Given the description of an element on the screen output the (x, y) to click on. 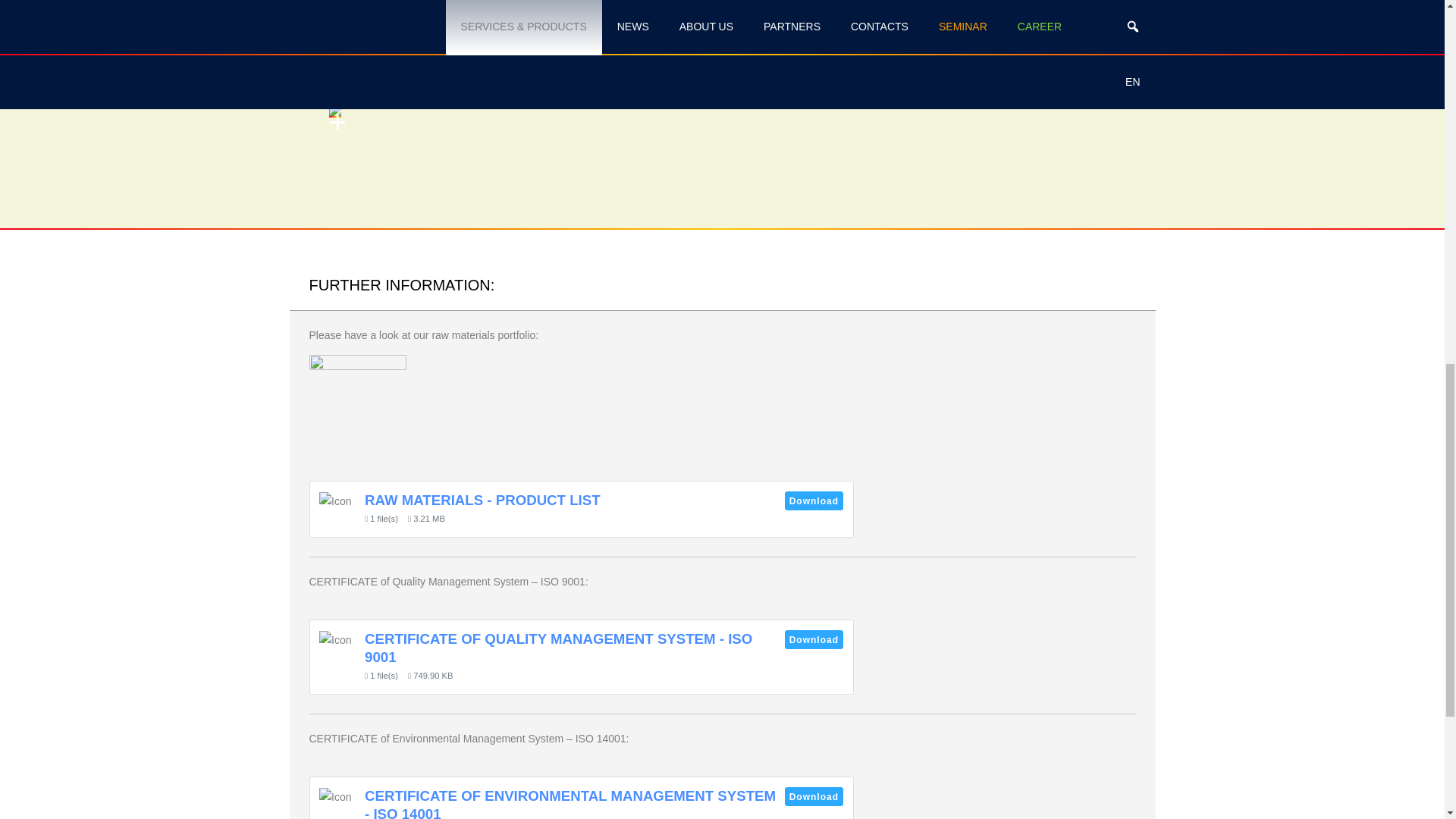
MORE INFORMATION (721, 23)
